Given the description of an element on the screen output the (x, y) to click on. 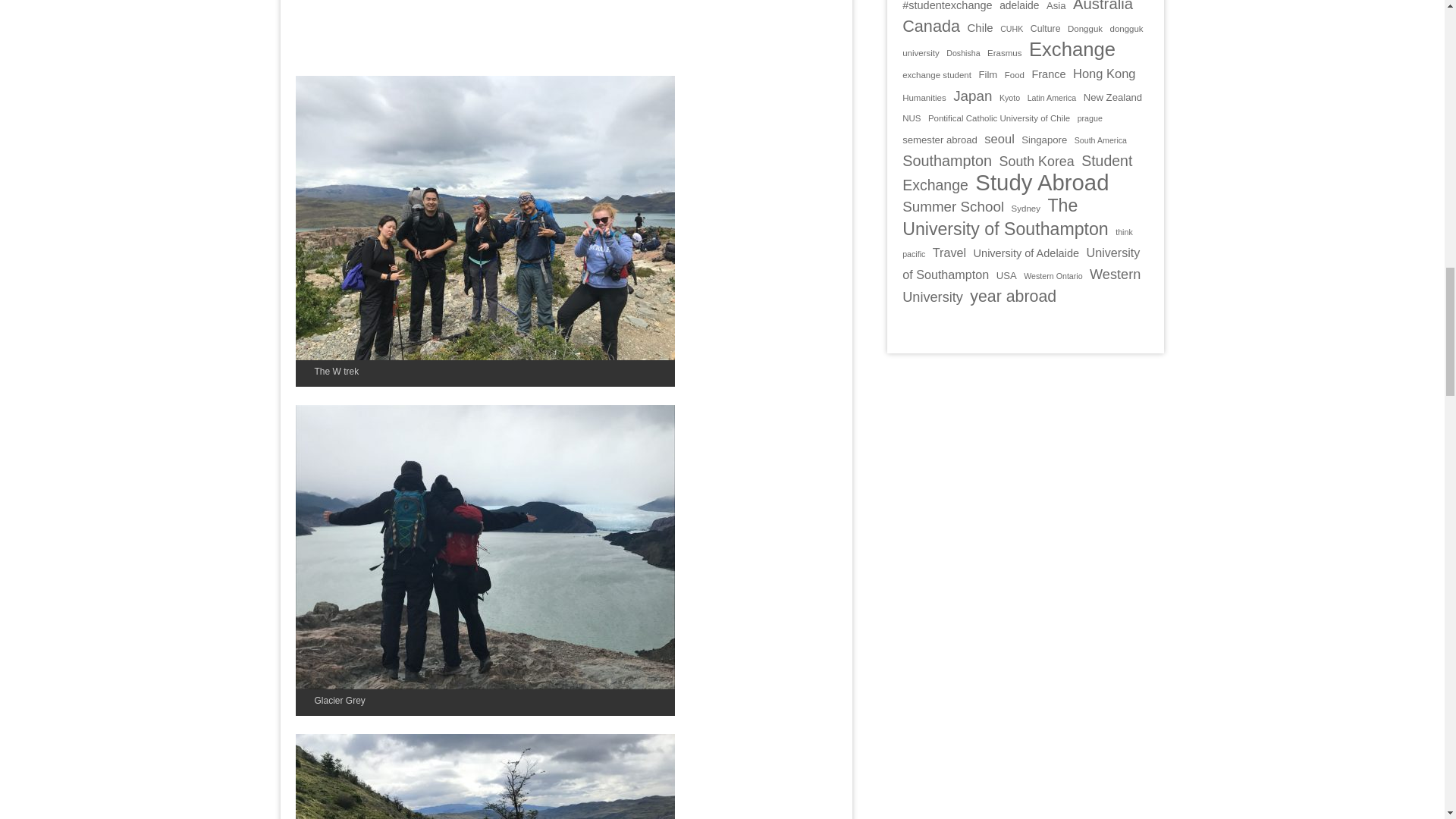
adelaide (1018, 5)
